Given the description of an element on the screen output the (x, y) to click on. 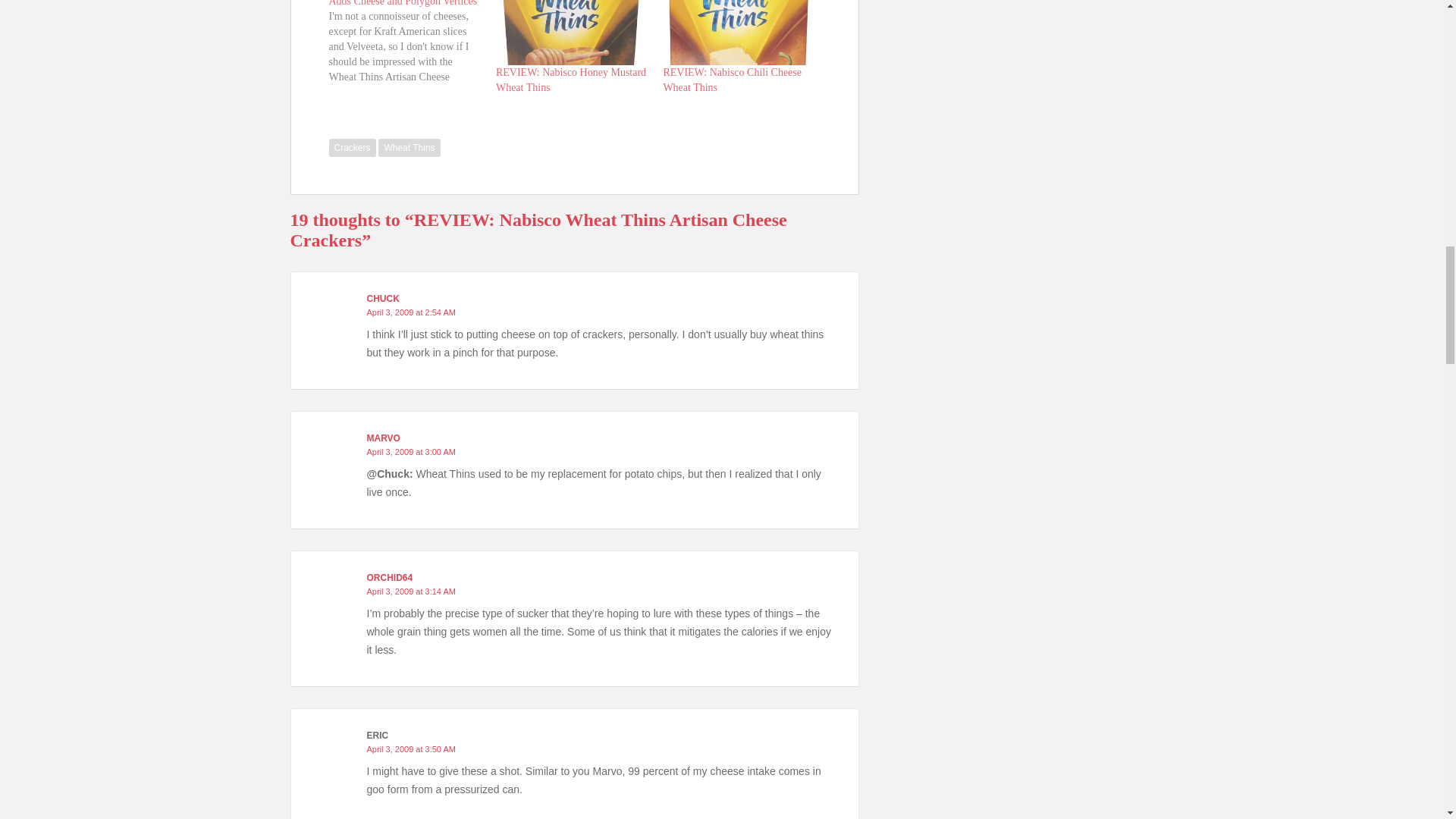
REVIEW: Nabisco Honey Mustard Wheat Thins (571, 79)
April 3, 2009 at 3:00 AM (410, 451)
REVIEW: Nabisco Chili Cheese Wheat Thins (732, 79)
REVIEW: Nabisco Chili Cheese Wheat Thins (737, 33)
Wheat Thins (408, 147)
REVIEW: Nabisco Honey Mustard Wheat Thins (571, 79)
April 3, 2009 at 2:54 AM (410, 311)
REVIEW: Nabisco Chili Cheese Wheat Thins (732, 79)
